Given the description of an element on the screen output the (x, y) to click on. 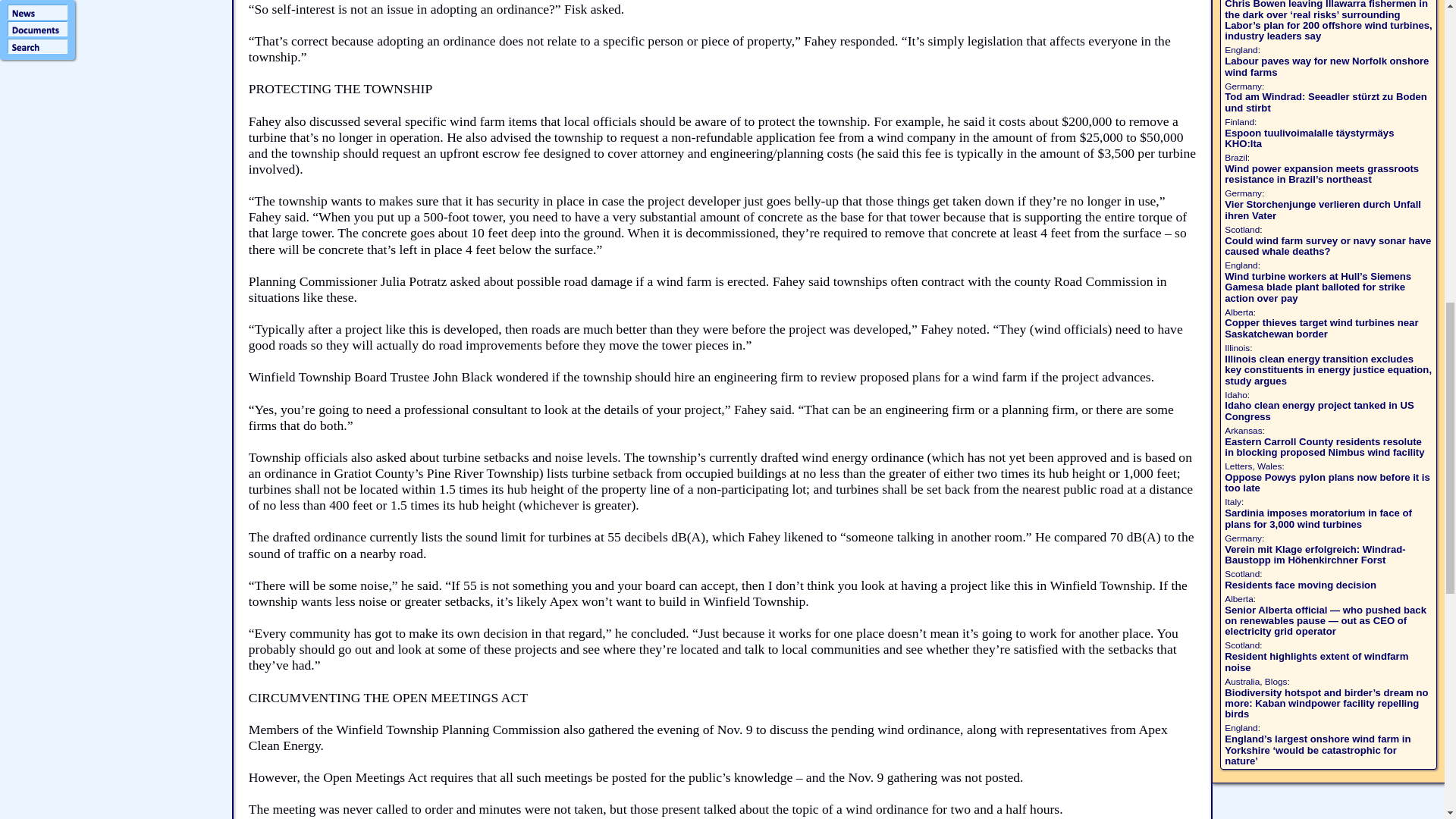
Germany (1243, 86)
Labour paves way for new Norfolk onshore wind farms (1326, 65)
England (1240, 50)
